Given the description of an element on the screen output the (x, y) to click on. 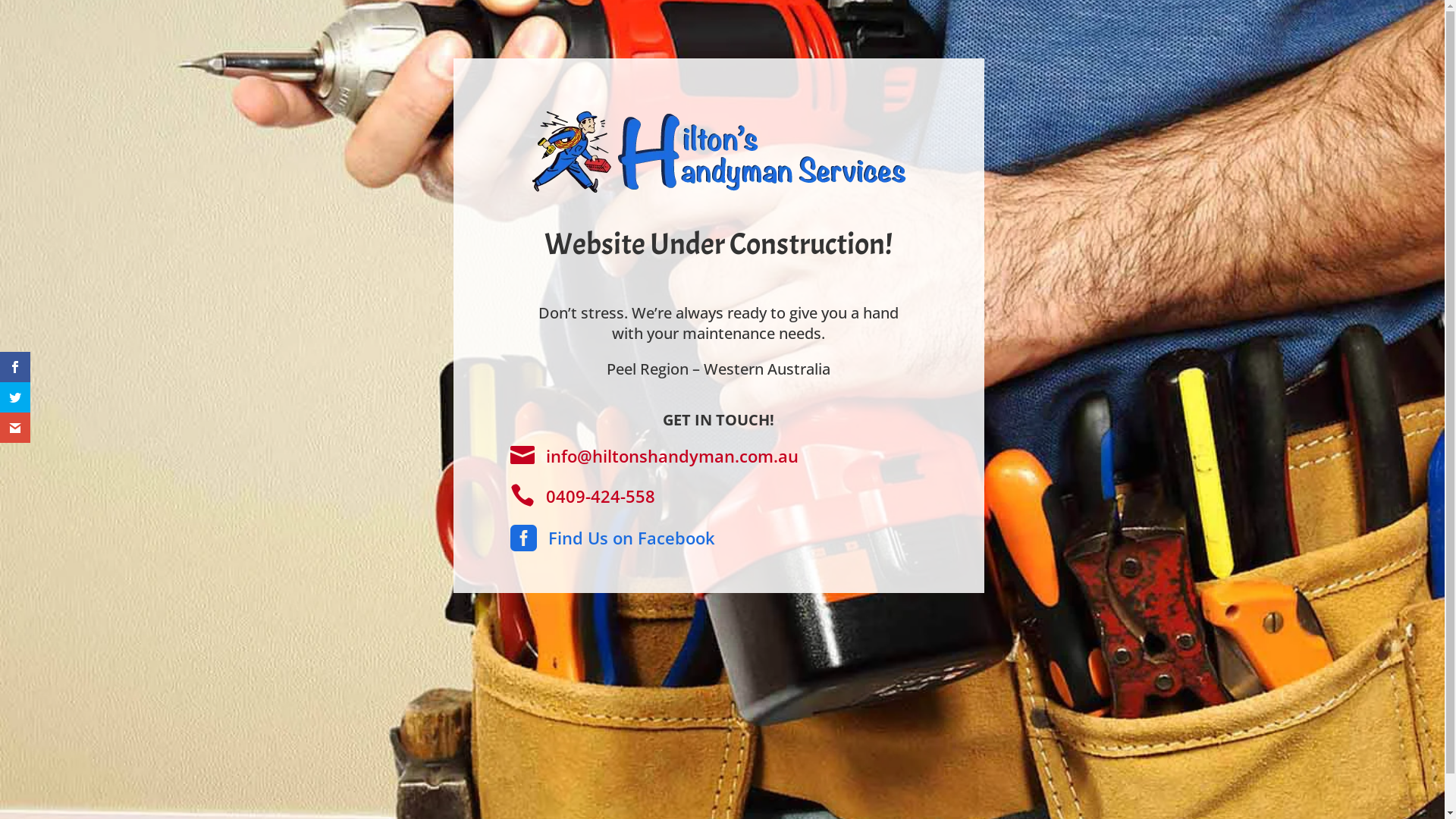
Find Us on Facebook Element type: text (630, 537)
info@hiltonshandyman.com.au Element type: text (672, 455)
0409-424-558 Element type: text (600, 495)
HHMS-Full Logo-Web-500 Element type: hover (718, 150)
